Given the description of an element on the screen output the (x, y) to click on. 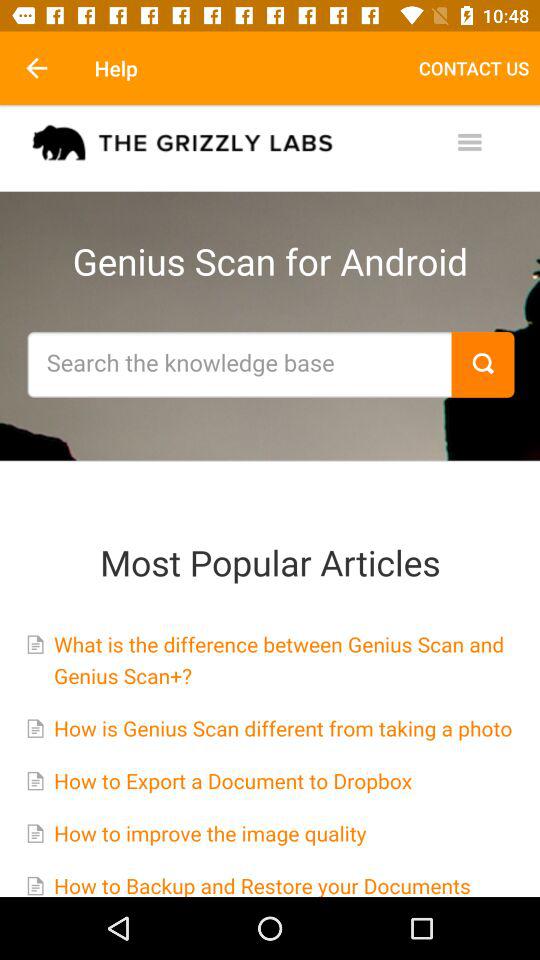
click the item next to the help icon (474, 67)
